Given the description of an element on the screen output the (x, y) to click on. 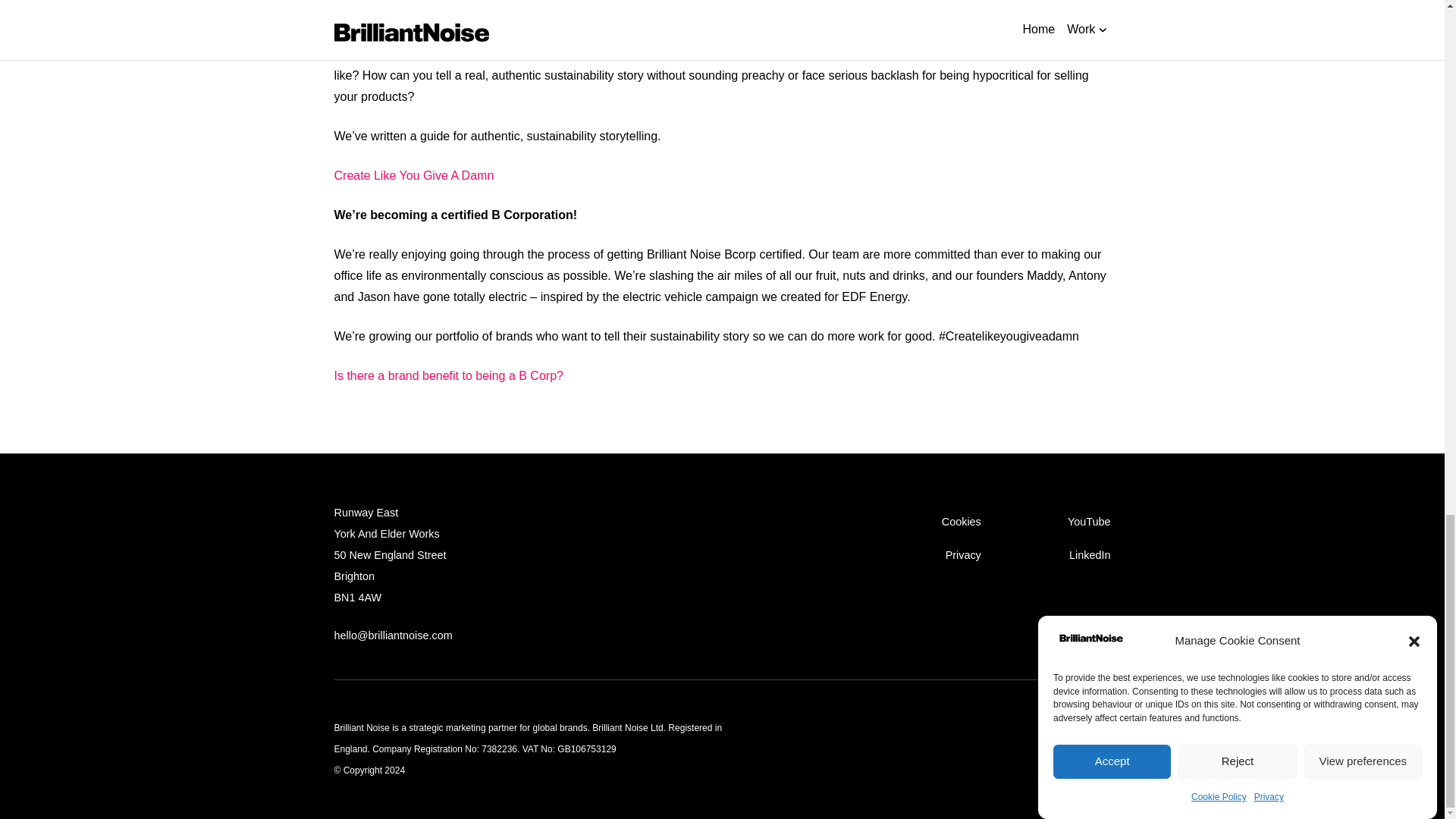
YouTube (1088, 521)
Create Like You Give A Damn (413, 174)
Cookies (961, 521)
Privacy (962, 554)
Is there a brand benefit to being a B Corp? (447, 375)
LinkedIn (1088, 554)
